Given the description of an element on the screen output the (x, y) to click on. 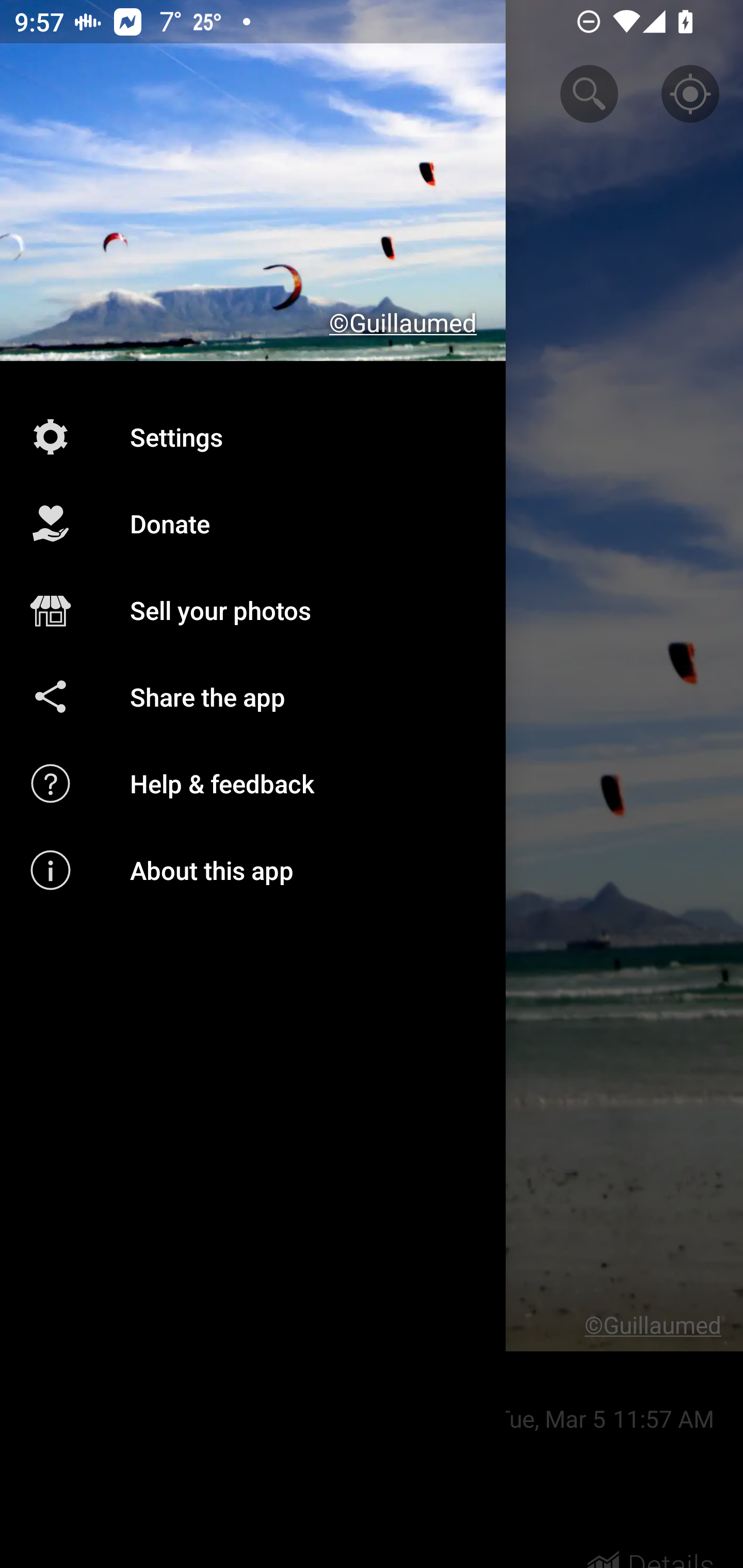
©Guillaumed (252, 180)
Settings (252, 436)
Donate (252, 523)
Sell your photos (252, 610)
Share the app (252, 696)
Help & feedback (252, 783)
About this app (252, 870)
